Given the description of an element on the screen output the (x, y) to click on. 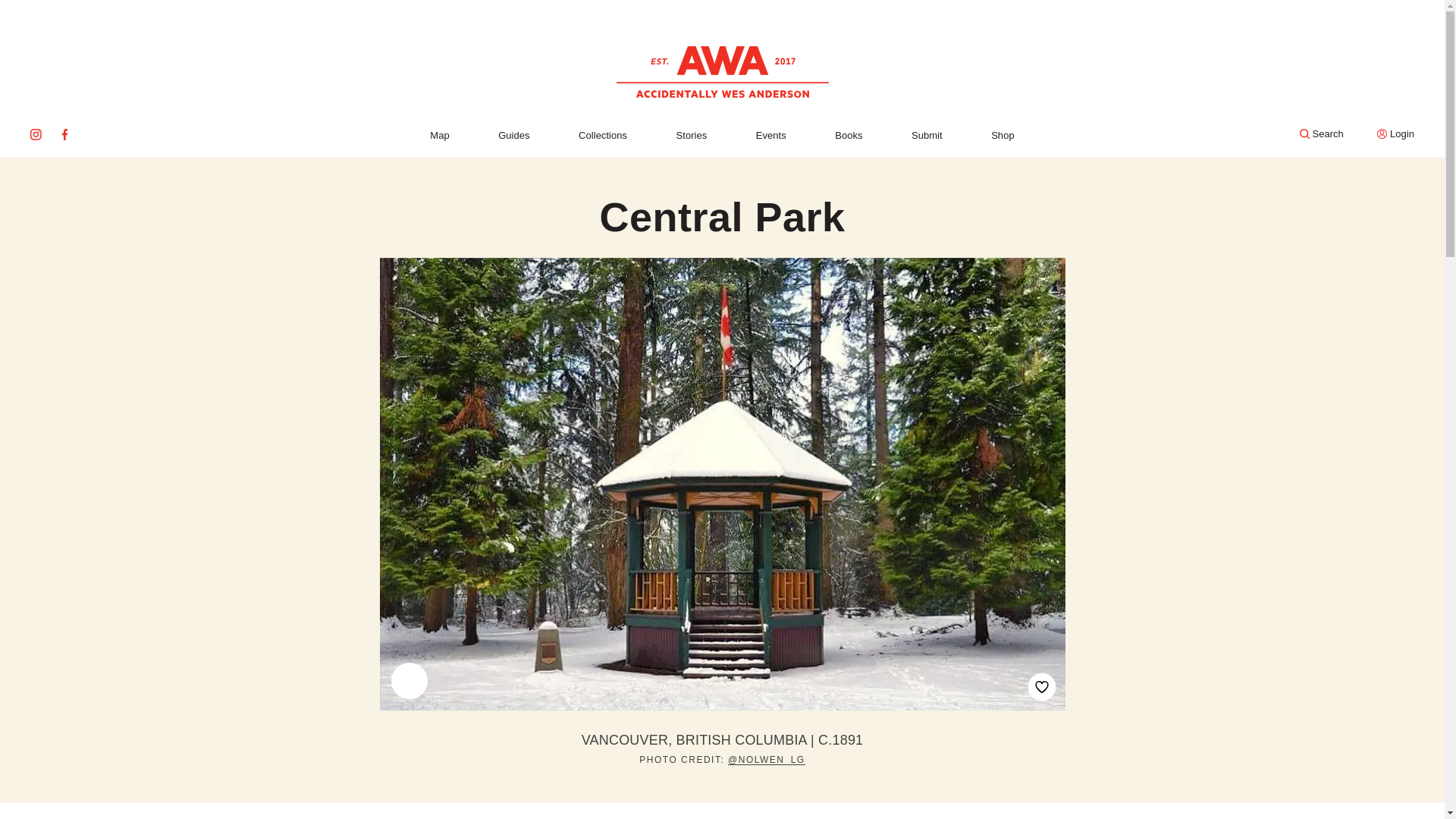
Collections (602, 134)
Guides (513, 134)
Stories (692, 134)
Submit (926, 134)
Events (770, 134)
Map (438, 134)
Login (1395, 133)
Shop (1002, 134)
Books (847, 134)
Search (1321, 133)
